Given the description of an element on the screen output the (x, y) to click on. 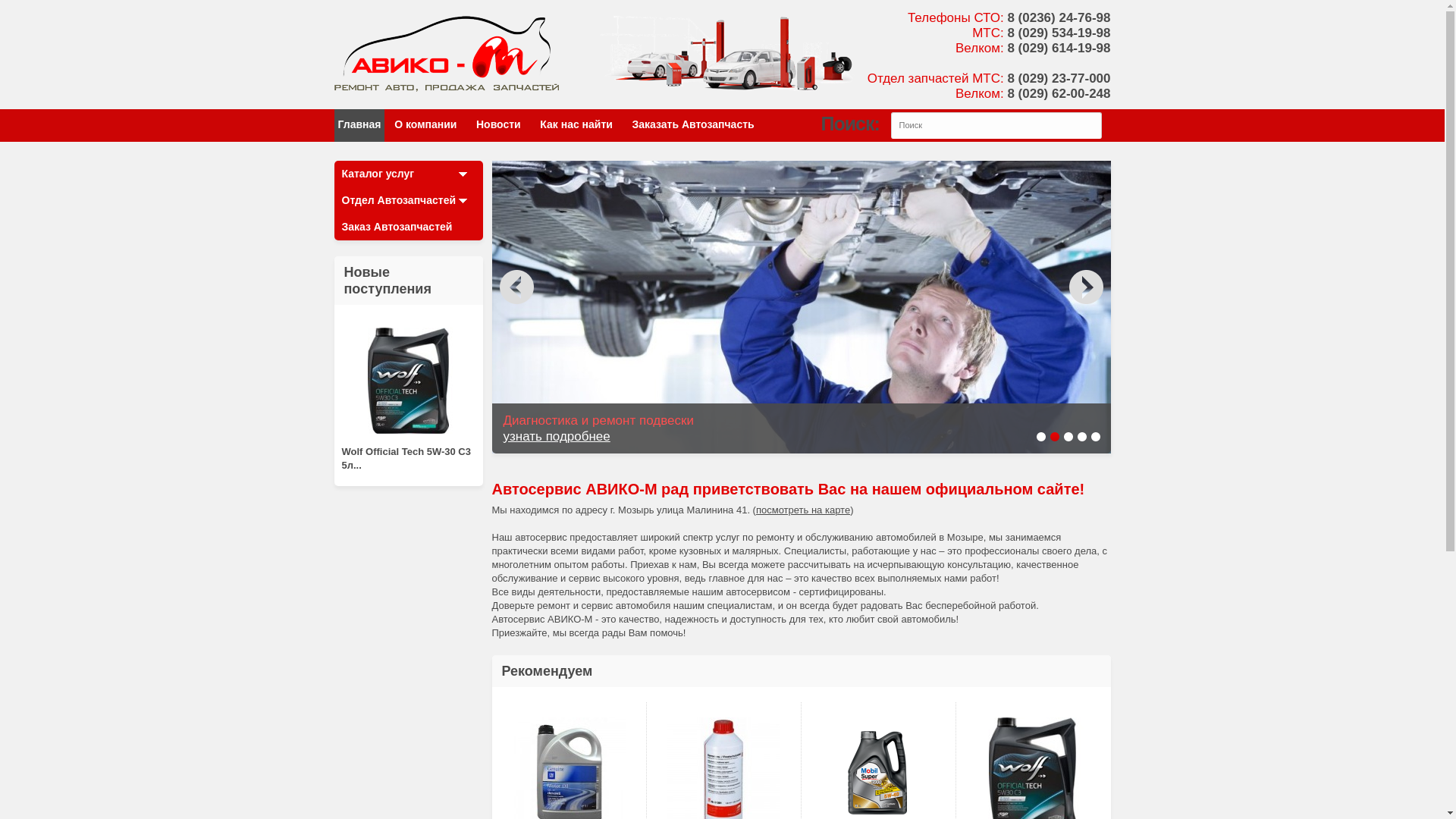
false Element type: text (515, 286)
1 Element type: text (1039, 436)
3 Element type: text (1067, 436)
4 Element type: text (1080, 436)
2 Element type: text (1053, 436)
false Element type: text (1086, 286)
5 Element type: text (1094, 436)
